Given the description of an element on the screen output the (x, y) to click on. 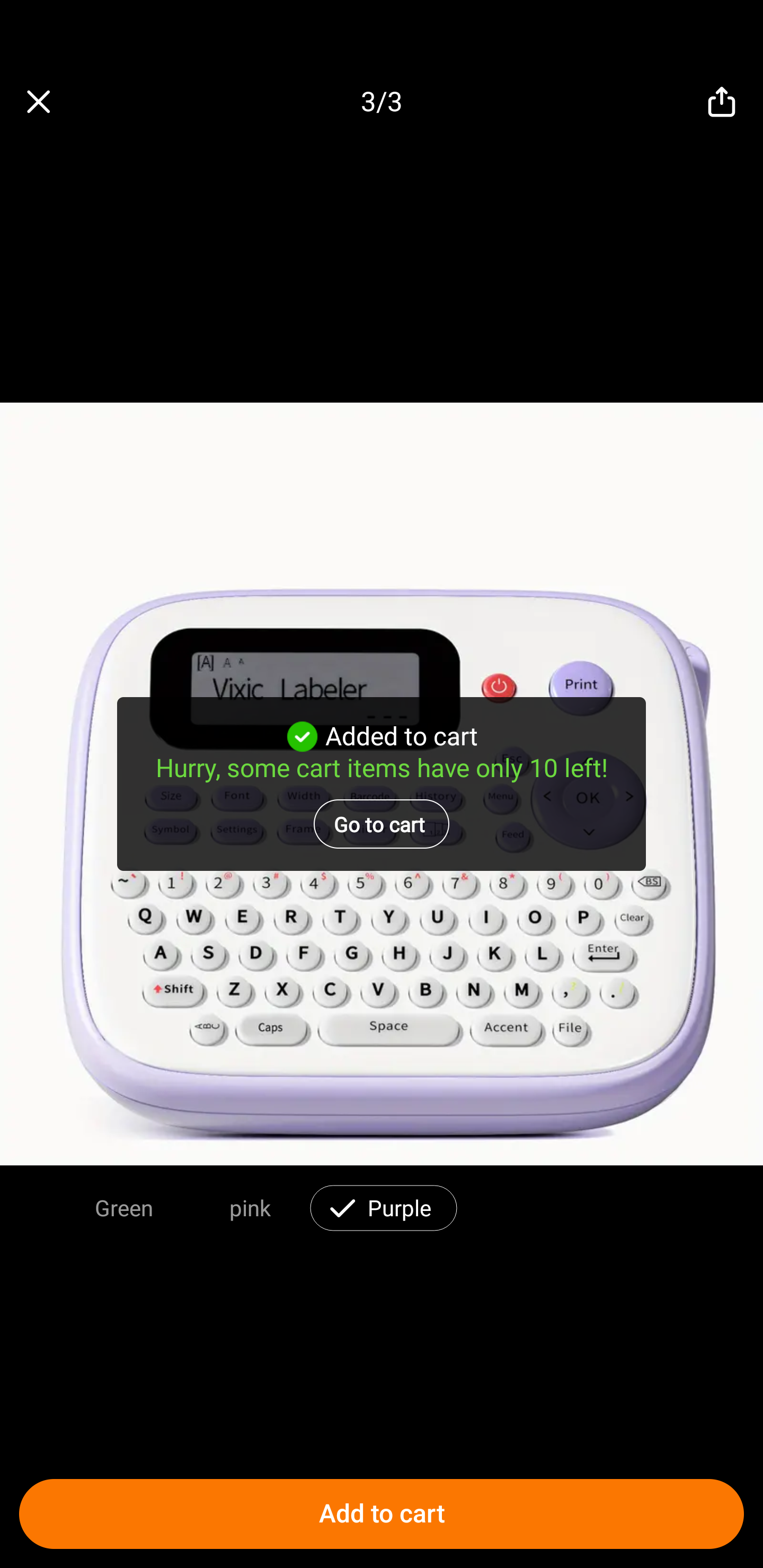
share (721, 101)
Green (123, 1207)
pink (249, 1207)
Purple (399, 1207)
Add to cart (381, 1513)
